Given the description of an element on the screen output the (x, y) to click on. 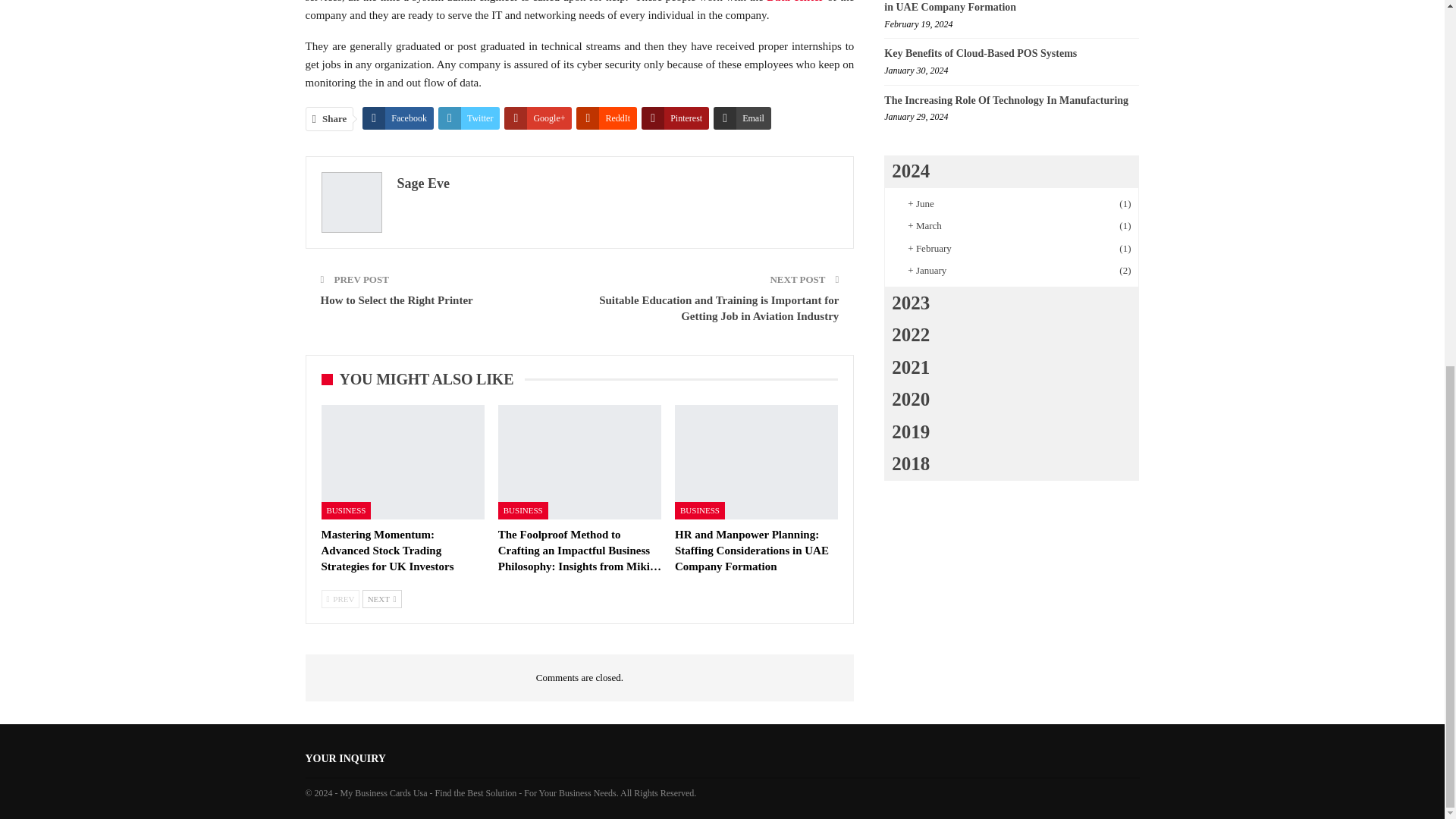
Pinterest (675, 118)
Facebook (397, 118)
ReddIt (606, 118)
Sage Eve (423, 183)
Email (742, 118)
Data center (795, 1)
Next (381, 598)
Previous (340, 598)
Twitter (468, 118)
